Given the description of an element on the screen output the (x, y) to click on. 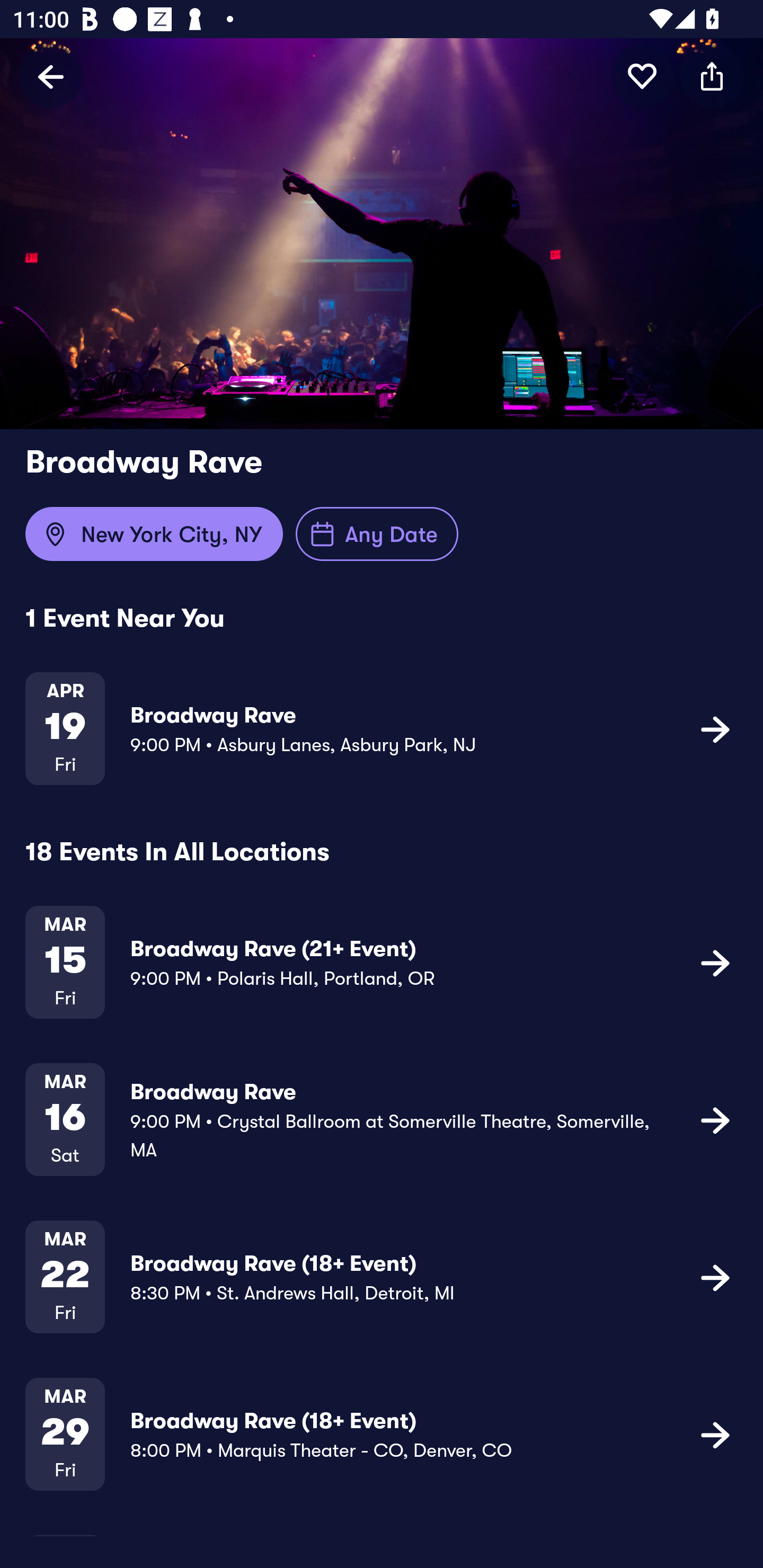
Back (50, 75)
icon button (641, 75)
icon button (711, 75)
New York City, NY (153, 533)
Any Date (377, 533)
icon button (714, 729)
icon button (714, 962)
icon button (714, 1119)
icon button (714, 1276)
icon button (714, 1434)
